Given the description of an element on the screen output the (x, y) to click on. 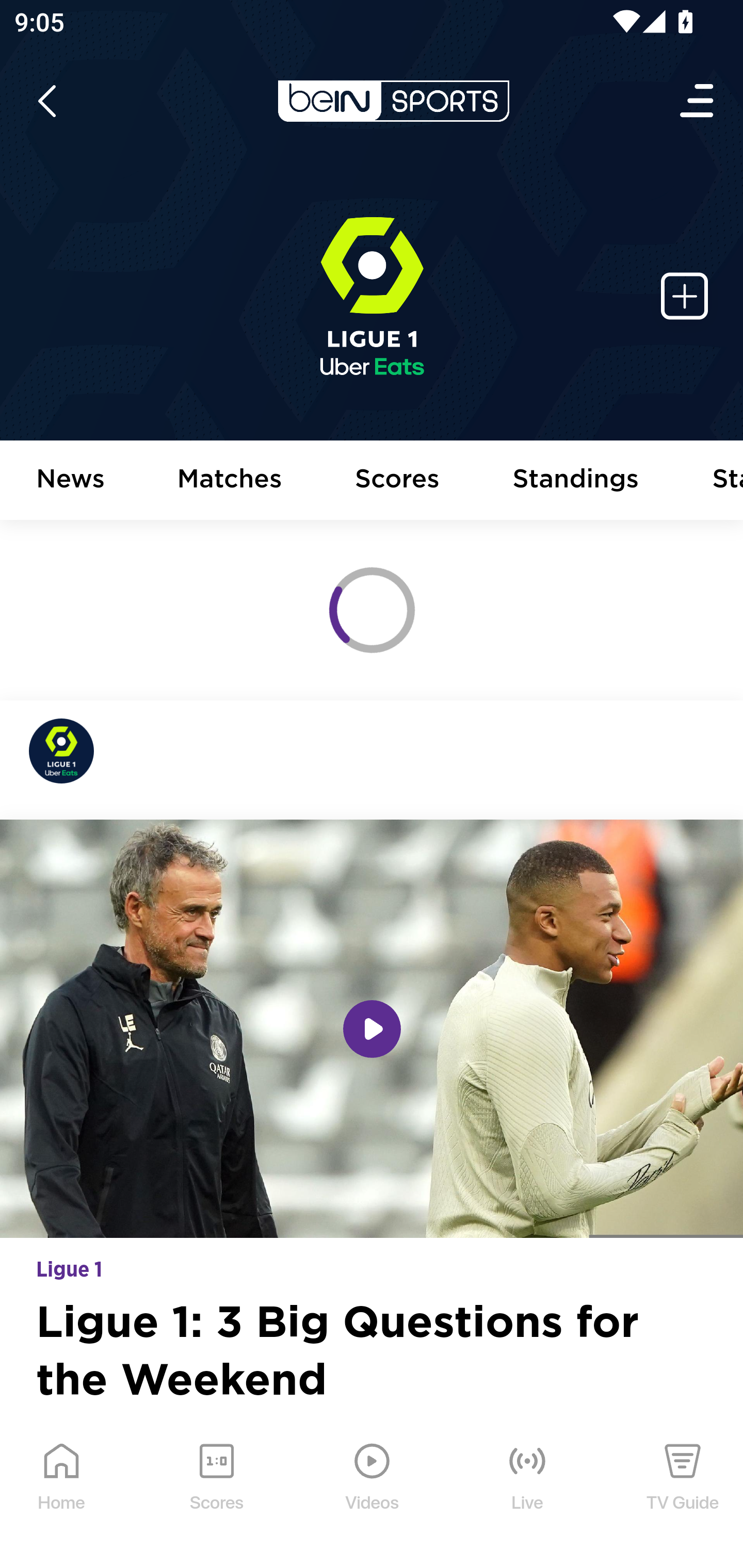
en-us?platform=mobile_android bein logo white (392, 101)
icon back (46, 101)
Open Menu Icon (697, 101)
News (70, 480)
Matches (229, 480)
Scores (397, 480)
Standings (575, 480)
Home Home Icon Home (61, 1491)
Scores Scores Icon Scores (216, 1491)
Videos Videos Icon Videos (372, 1491)
TV Guide TV Guide Icon TV Guide (682, 1491)
